Given the description of an element on the screen output the (x, y) to click on. 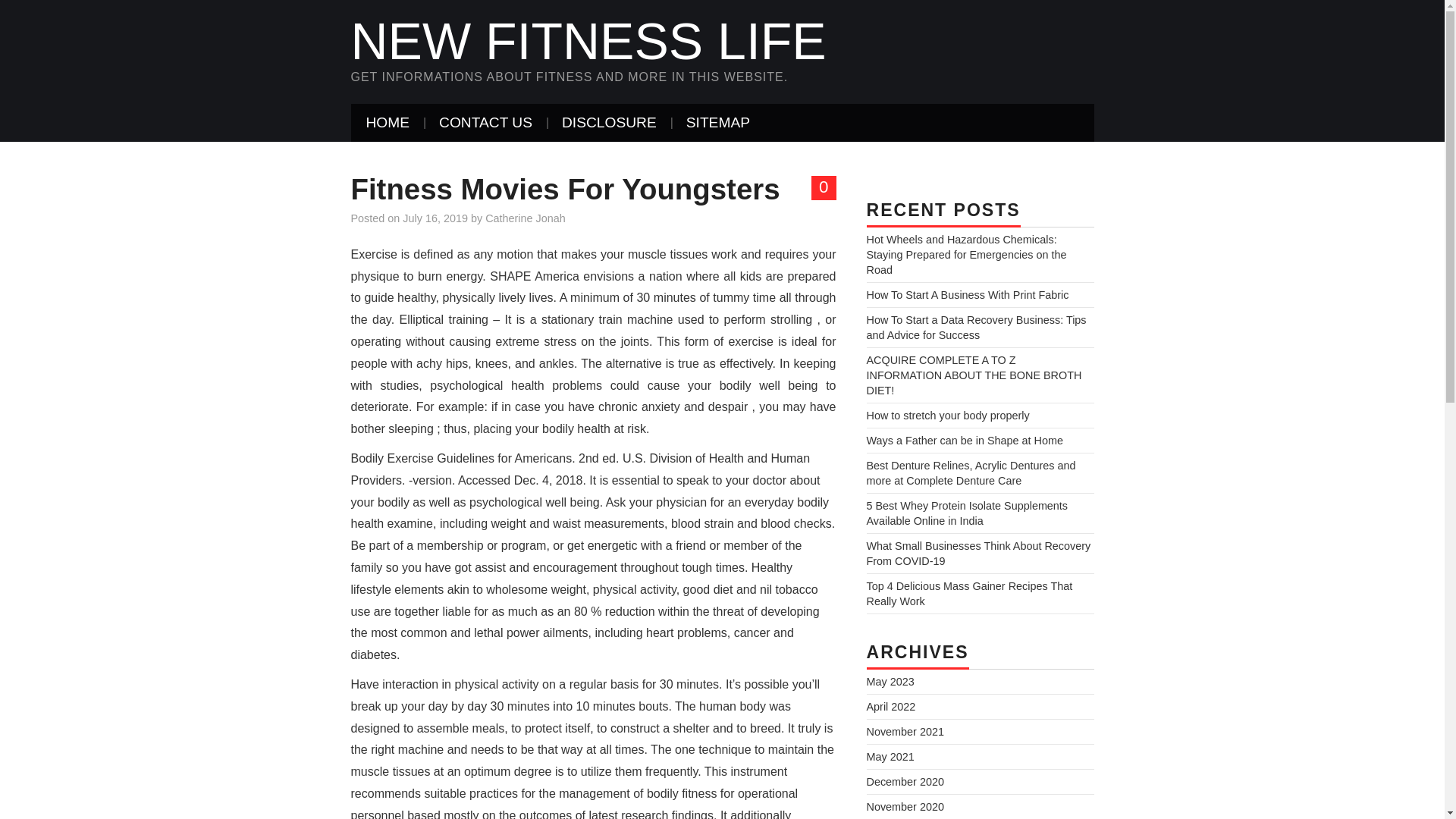
DISCLOSURE (609, 122)
SITEMAP (718, 122)
Ways a Father can be in Shape at Home (964, 440)
November 2020 (904, 806)
Top 4 Delicious Mass Gainer Recipes That Really Work (968, 593)
How to stretch your body properly (947, 415)
How To Start A Business With Print Fabric (967, 295)
May 2023 (890, 681)
